Given the description of an element on the screen output the (x, y) to click on. 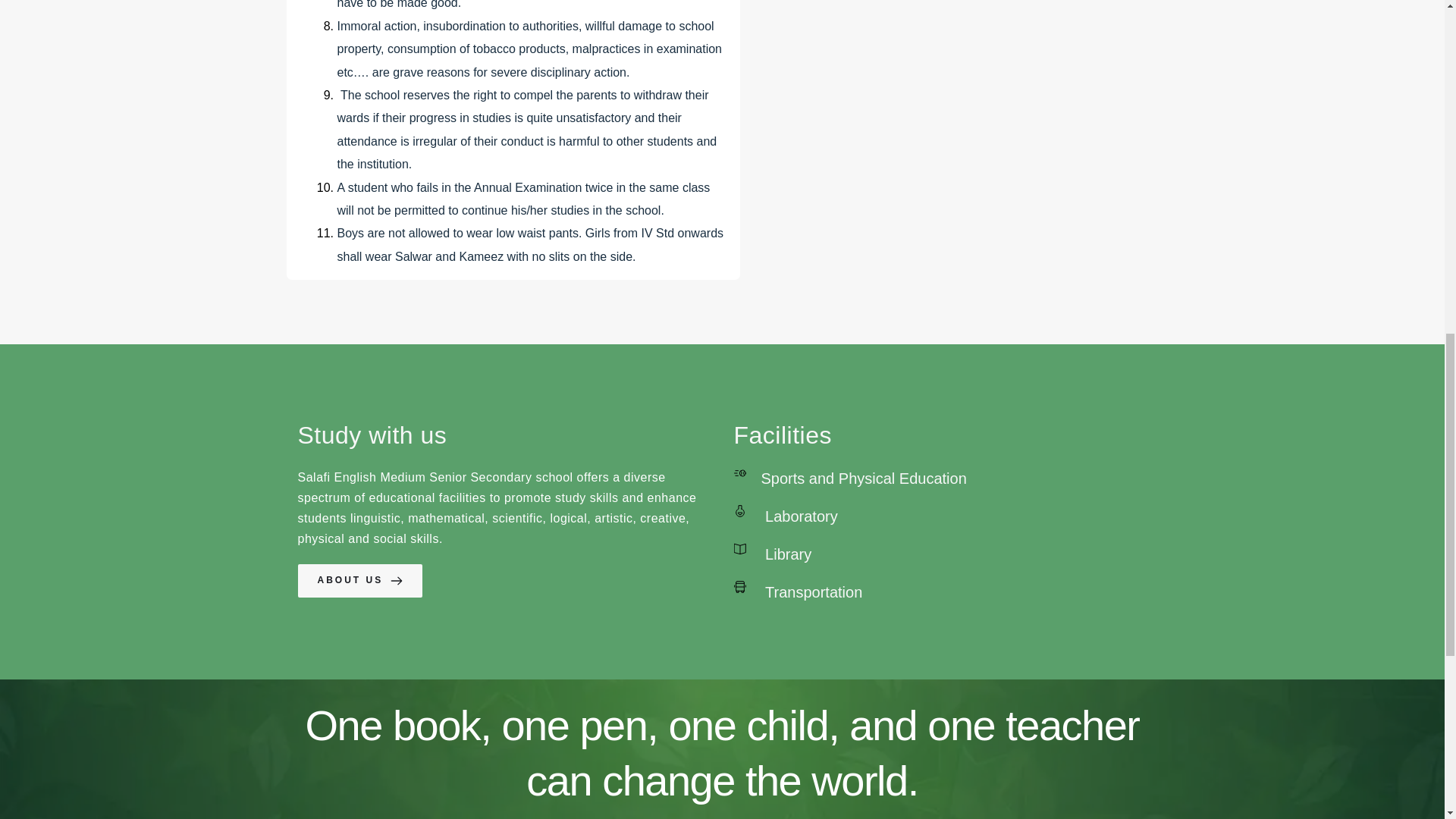
ABOUT US (359, 580)
